Given the description of an element on the screen output the (x, y) to click on. 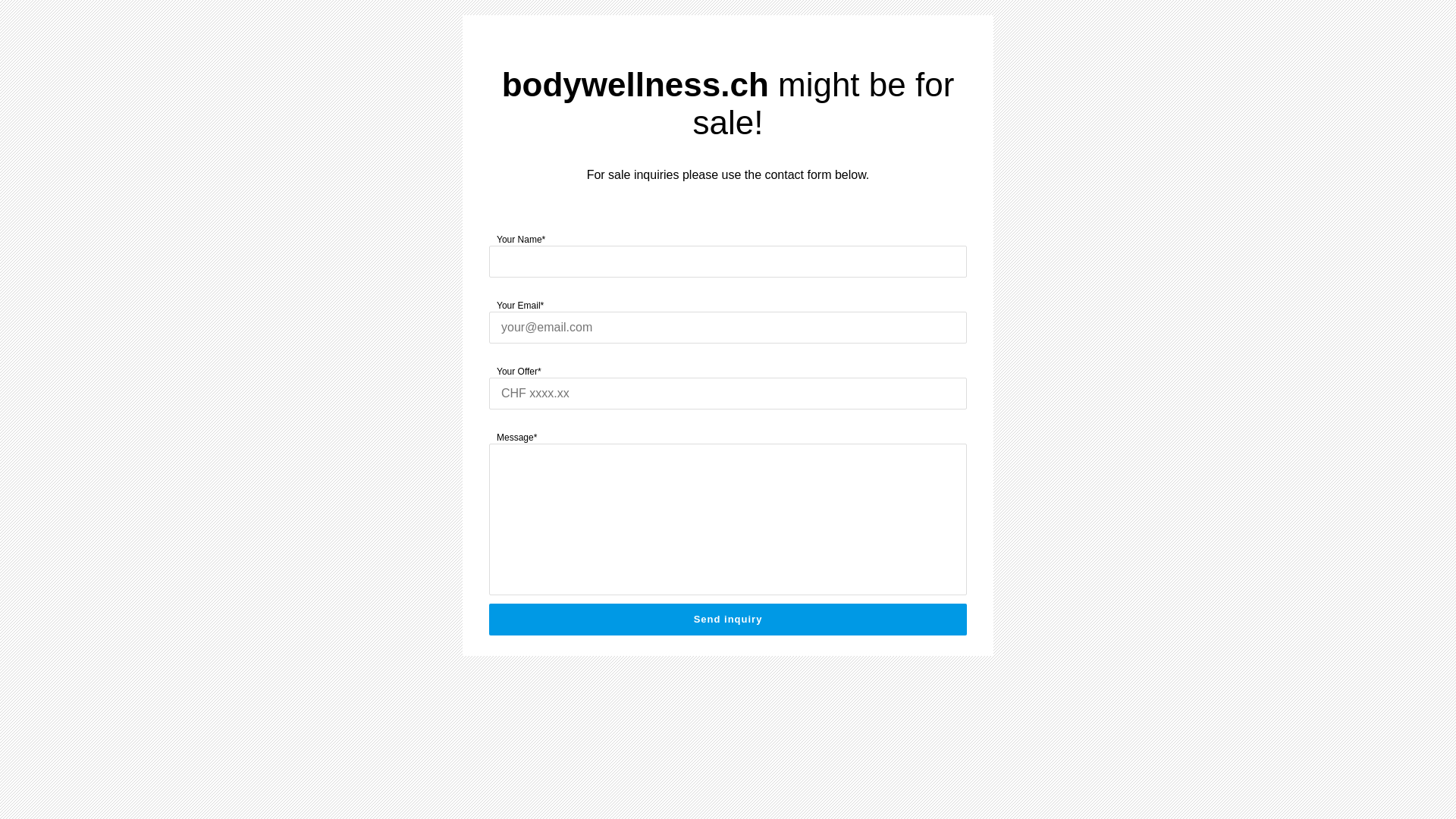
Send inquiry Element type: text (727, 619)
